Given the description of an element on the screen output the (x, y) to click on. 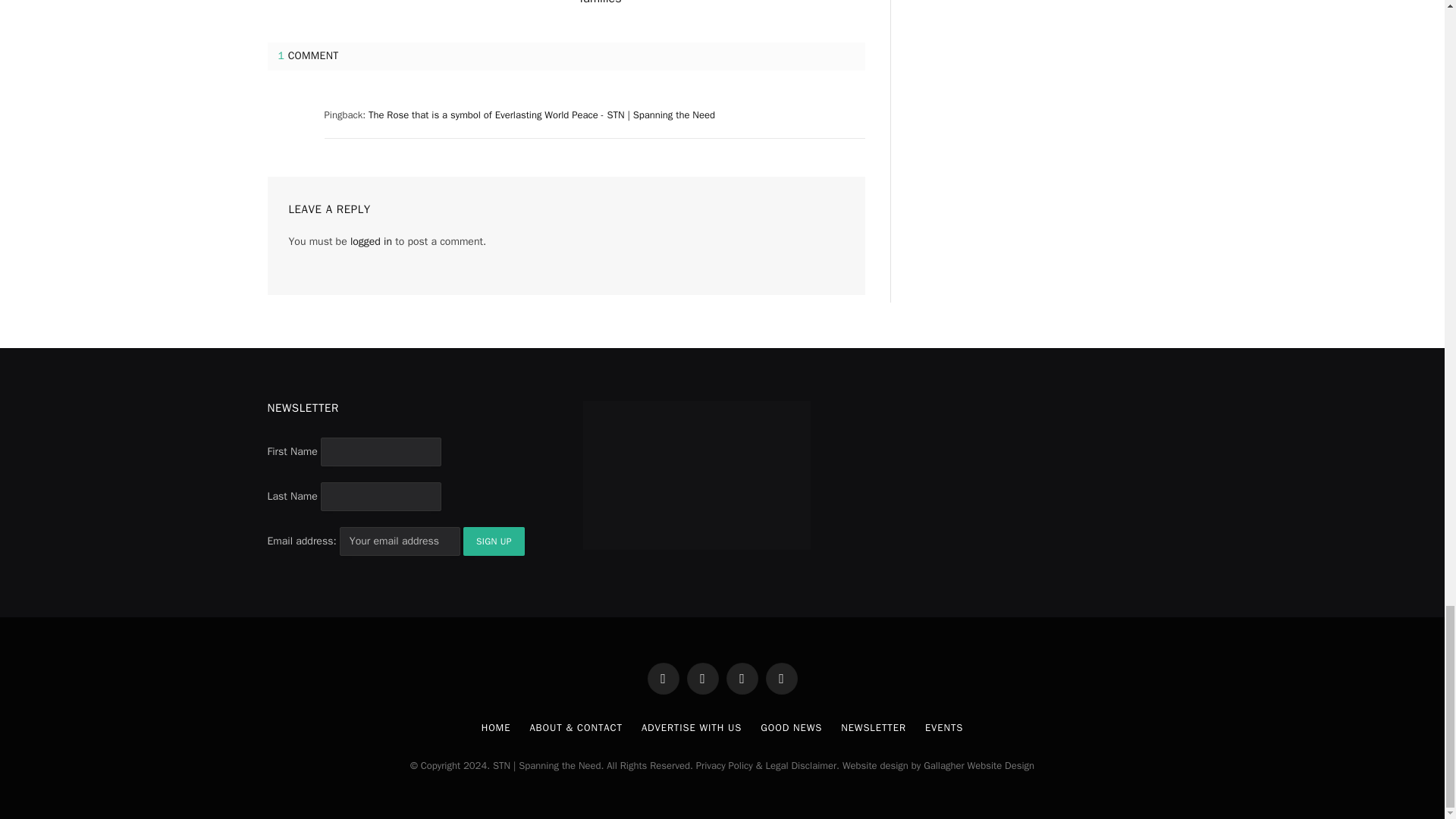
Sign up (493, 541)
